Given the description of an element on the screen output the (x, y) to click on. 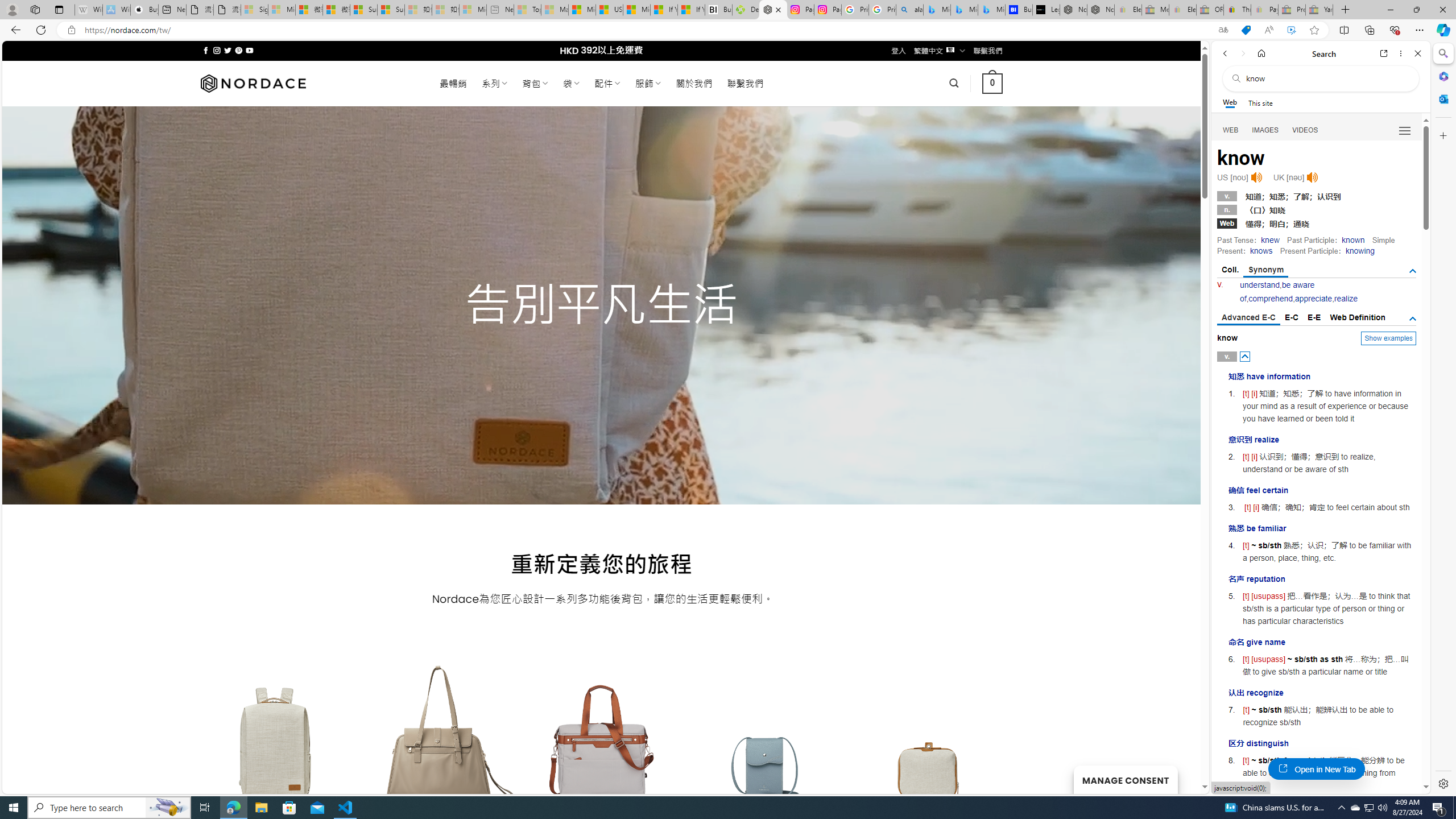
AutomationID: tgsb (1412, 270)
Follow on Twitter (227, 50)
Coll. (1230, 269)
